Given the description of an element on the screen output the (x, y) to click on. 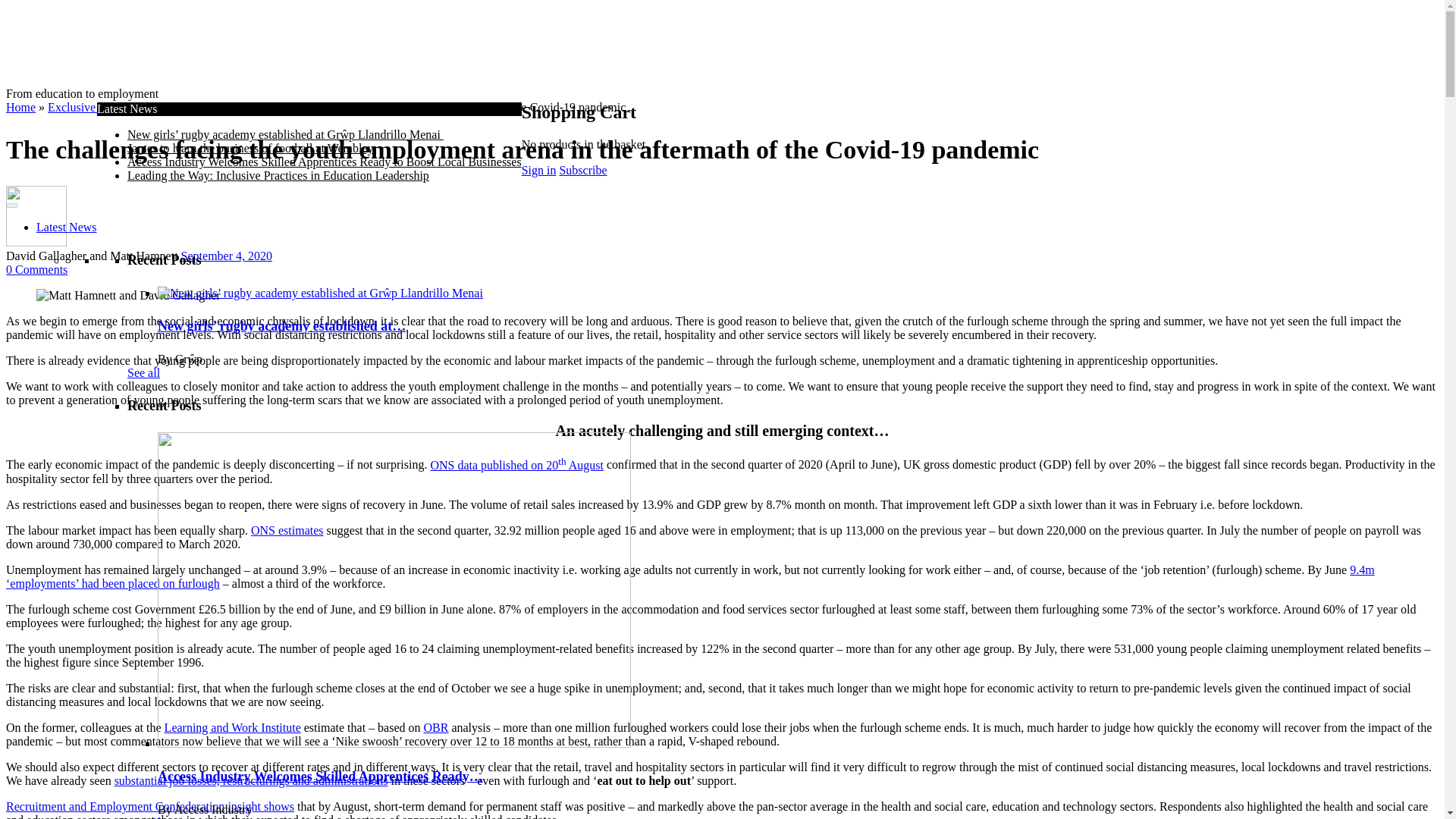
Sign in (538, 169)
Subscribe (583, 169)
Leading the Way: Inclusive Practices in Education Leadership (278, 174)
James to learn the business of football at Wembley (251, 147)
See all (144, 817)
See all (144, 372)
Latest News (66, 226)
